Given the description of an element on the screen output the (x, y) to click on. 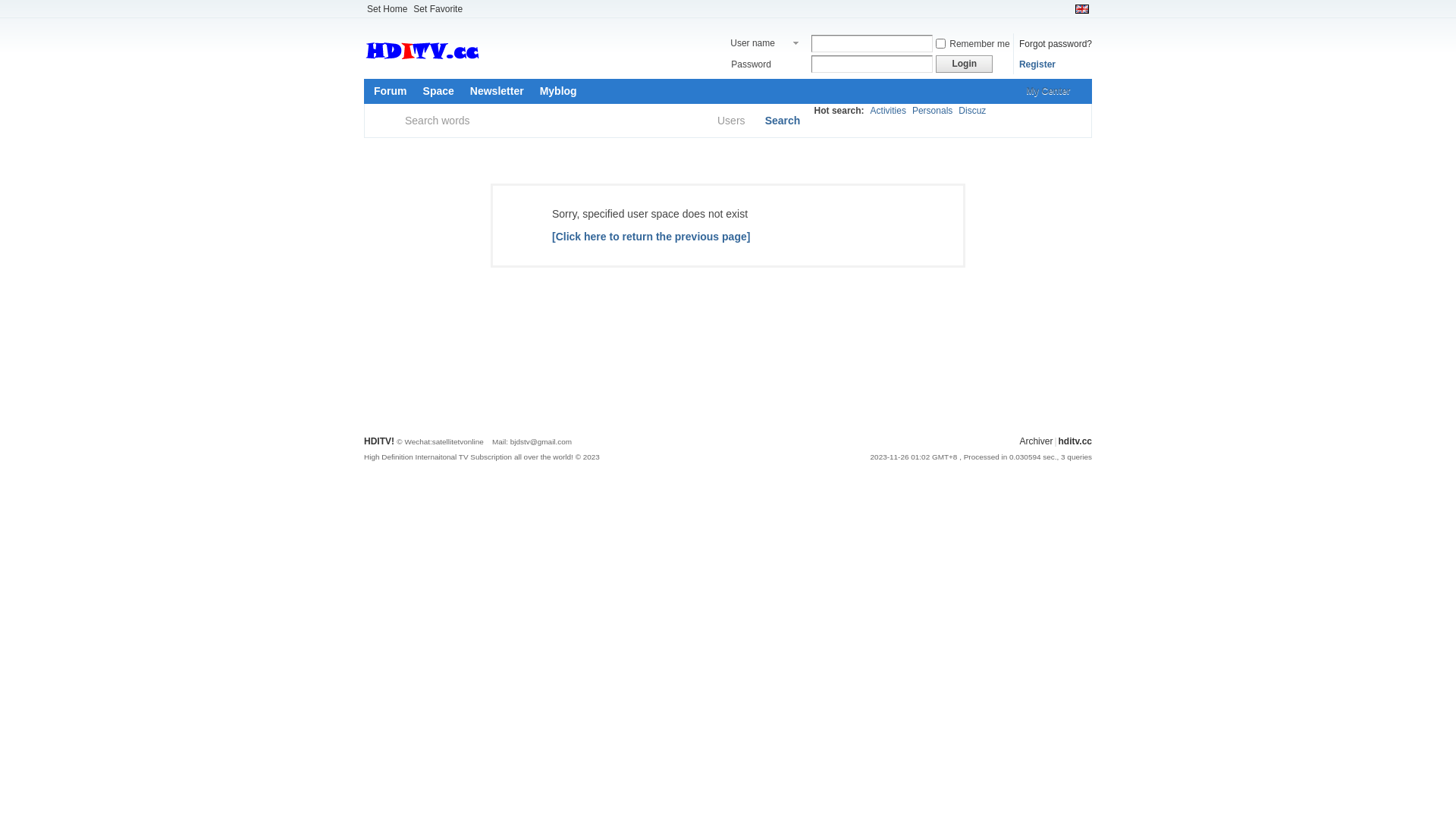
Forum Element type: text (390, 90)
[Click here to return the previous page] Element type: text (650, 236)
Set Home Element type: text (387, 9)
Change language Element type: hover (1082, 9)
hditv.cc Element type: text (1075, 441)
Personals Element type: text (932, 110)
Archiver Element type: text (1035, 441)
Forgot password? Element type: text (1055, 42)
Myblog Element type: text (558, 90)
Users Element type: text (735, 120)
Newsletter Element type: text (496, 90)
Space Element type: text (438, 90)
HDITV! Element type: text (379, 441)
Register Element type: text (1037, 64)
Activities Element type: text (888, 110)
Discuz Element type: text (971, 110)
Login Element type: text (963, 63)
 HDITV Network Element type: hover (496, 64)
Set Favorite Element type: text (437, 9)
User name Element type: text (765, 43)
Search Element type: text (782, 120)
My Center Element type: text (1052, 90)
